Given the description of an element on the screen output the (x, y) to click on. 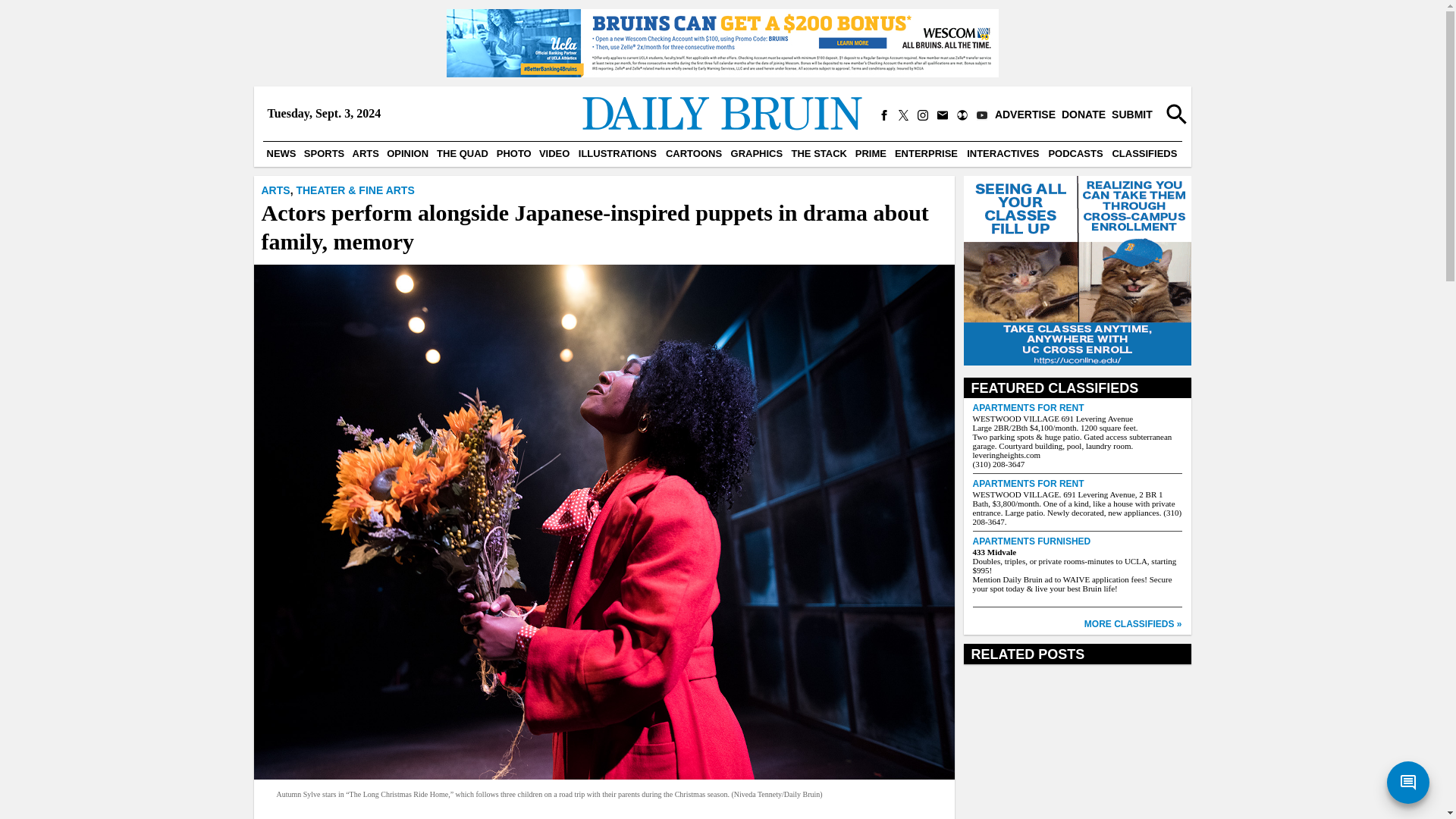
PRIME (870, 153)
ARTS (274, 189)
INTERACTIVES (1002, 153)
THE QUAD (462, 153)
OPINION (407, 153)
SUBMIT (1132, 114)
DONATE (1083, 114)
ADVERTISE (1024, 114)
ENTERPRISE (925, 153)
VIDEO (554, 153)
